Given the description of an element on the screen output the (x, y) to click on. 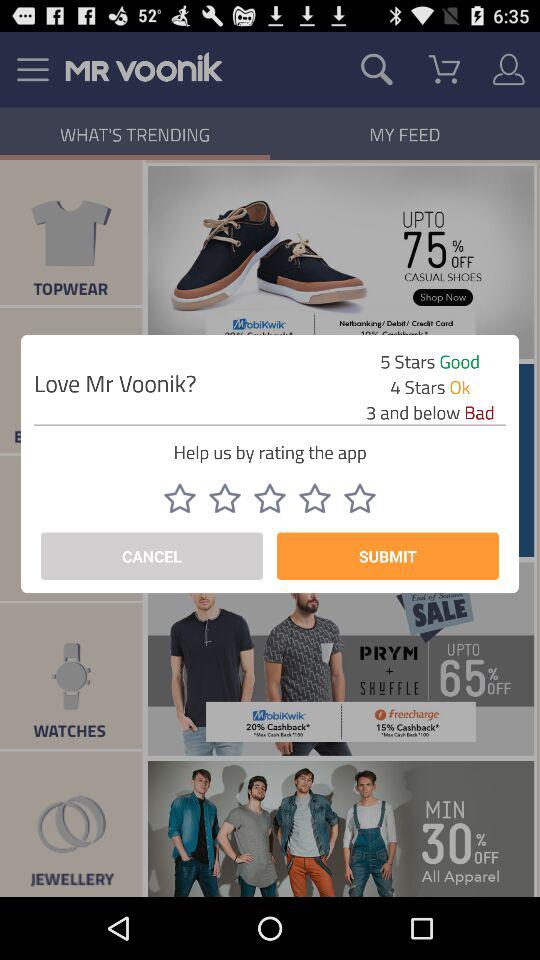
launch the icon above the submit item (314, 498)
